Given the description of an element on the screen output the (x, y) to click on. 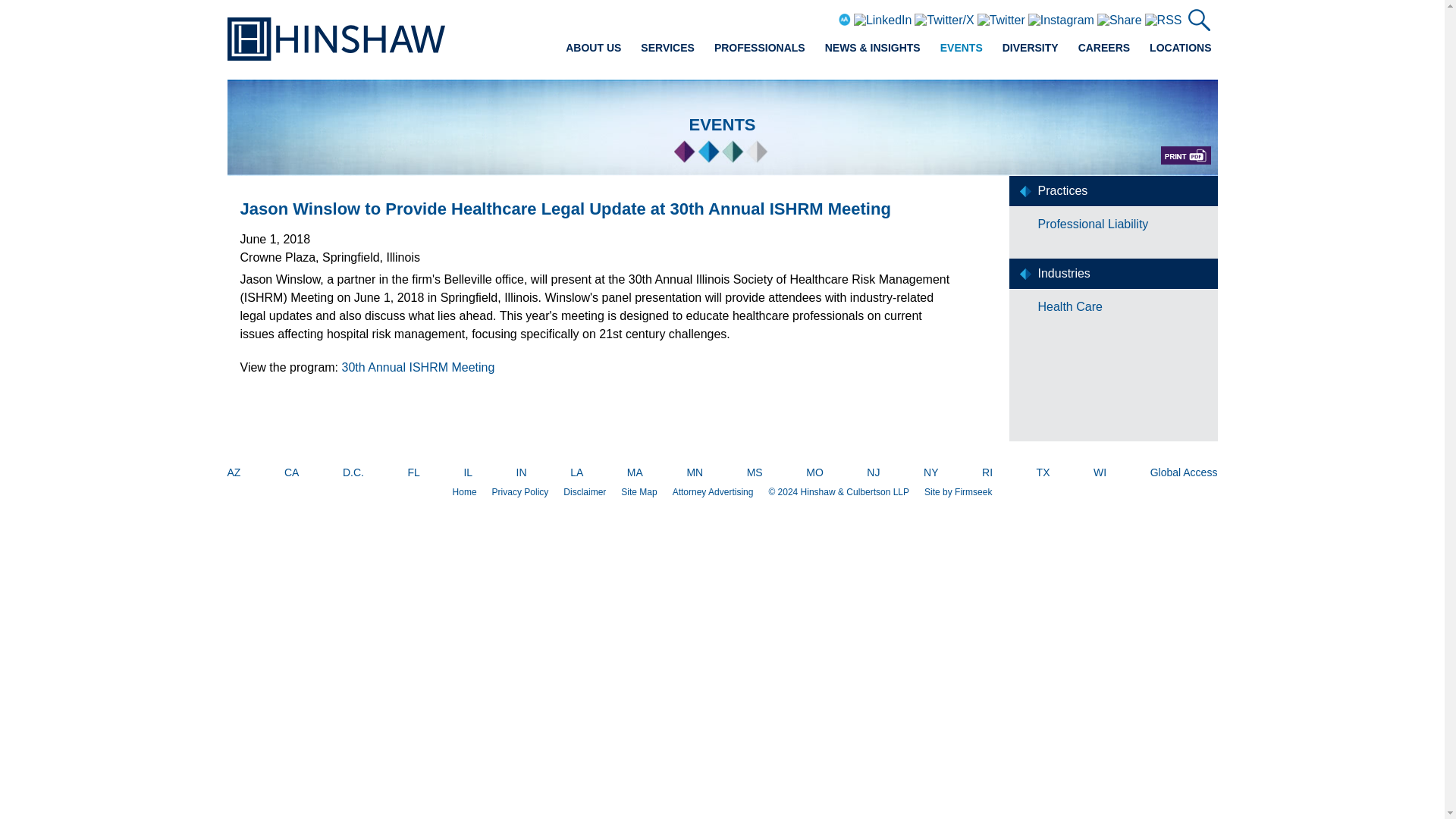
Menu (680, 16)
30th Annual ISHRM Meeting (417, 367)
Main Menu (680, 16)
Main Content (674, 16)
ABOUT US (593, 47)
PROFESSIONALS (759, 47)
SERVICES (667, 47)
